Given the description of an element on the screen output the (x, y) to click on. 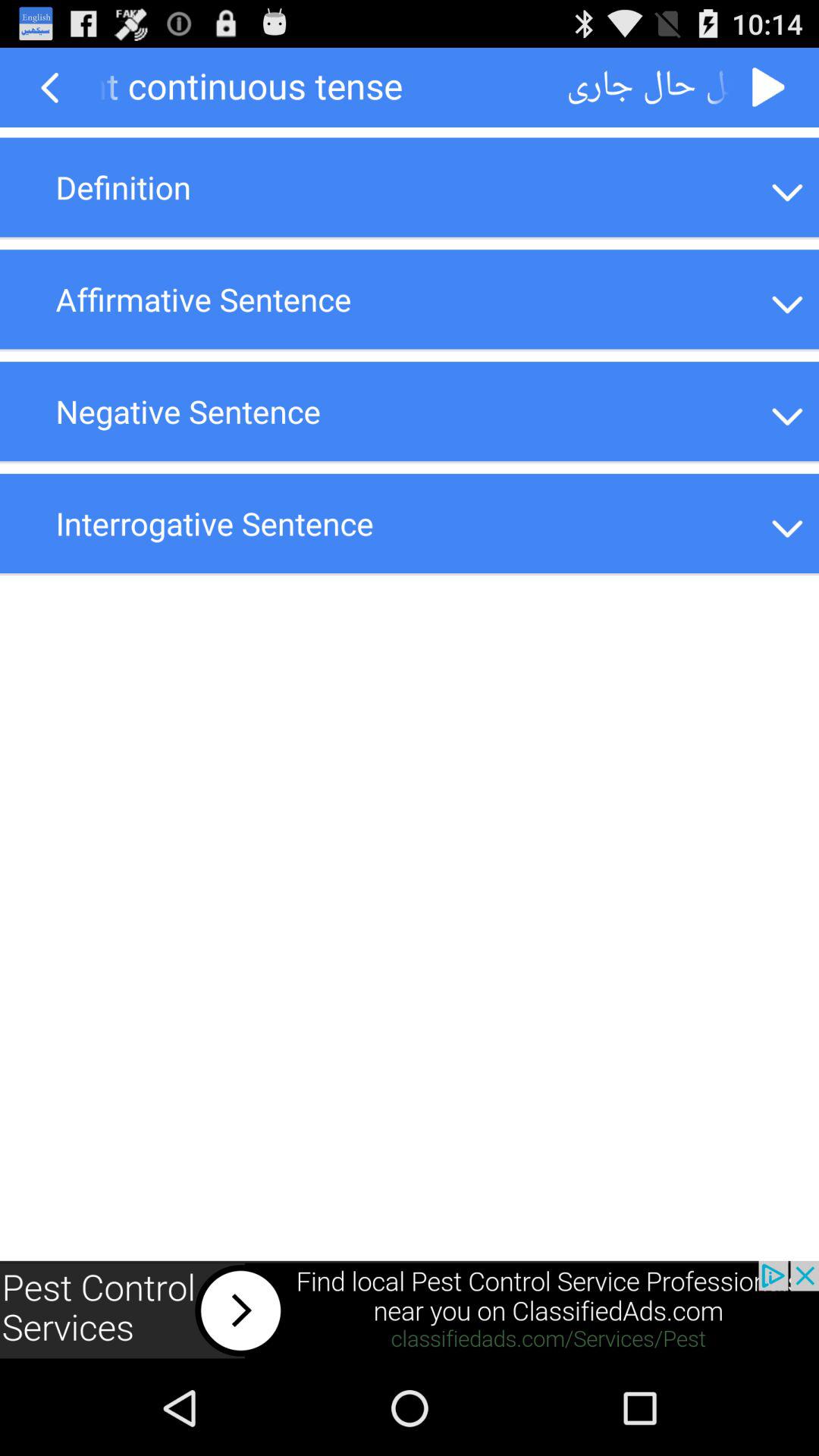
add the option (409, 1310)
